Given the description of an element on the screen output the (x, y) to click on. 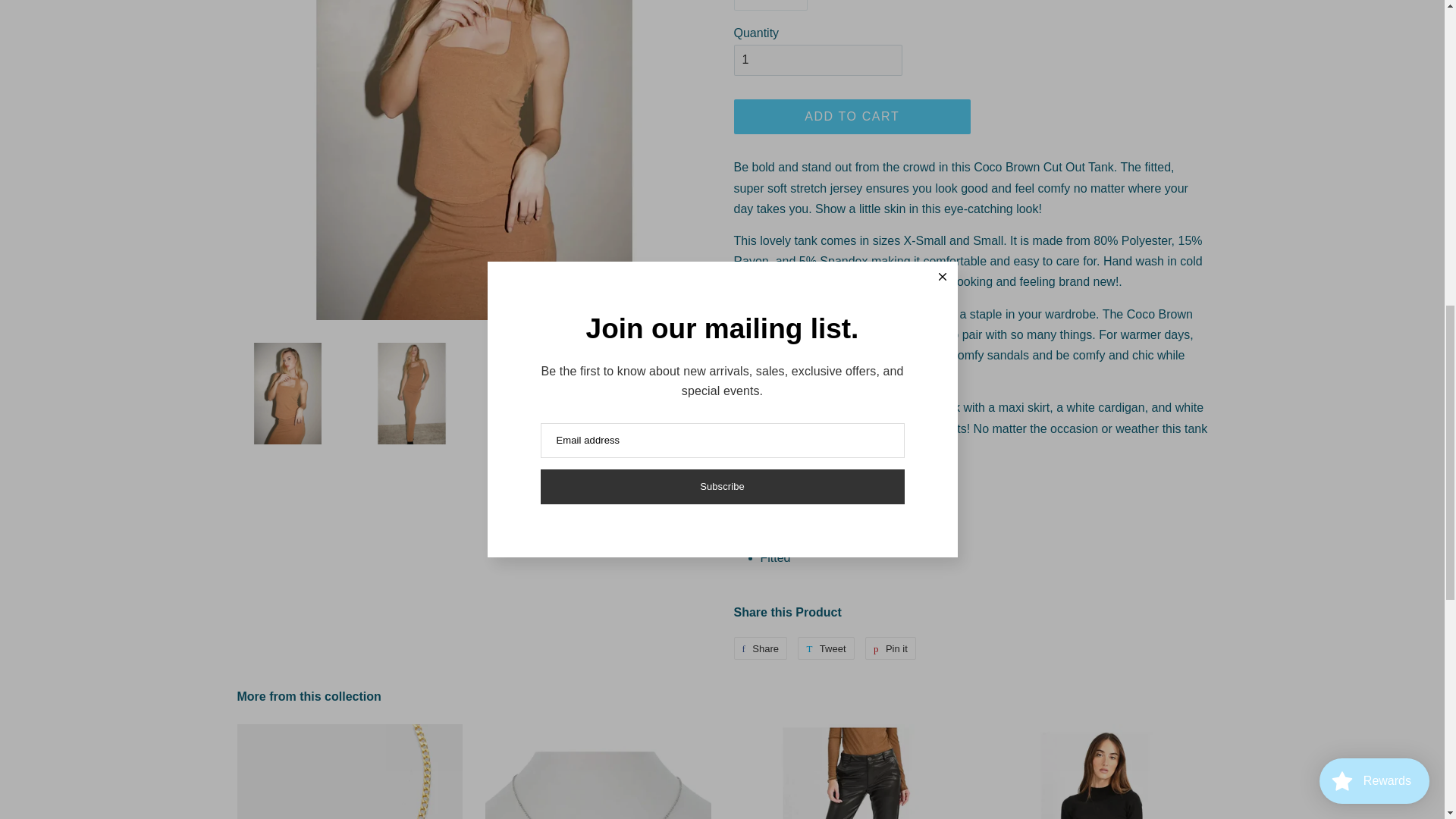
Tweet on Twitter (825, 648)
1 (817, 60)
Share on Facebook (760, 648)
Pin on Pinterest (889, 648)
